Given the description of an element on the screen output the (x, y) to click on. 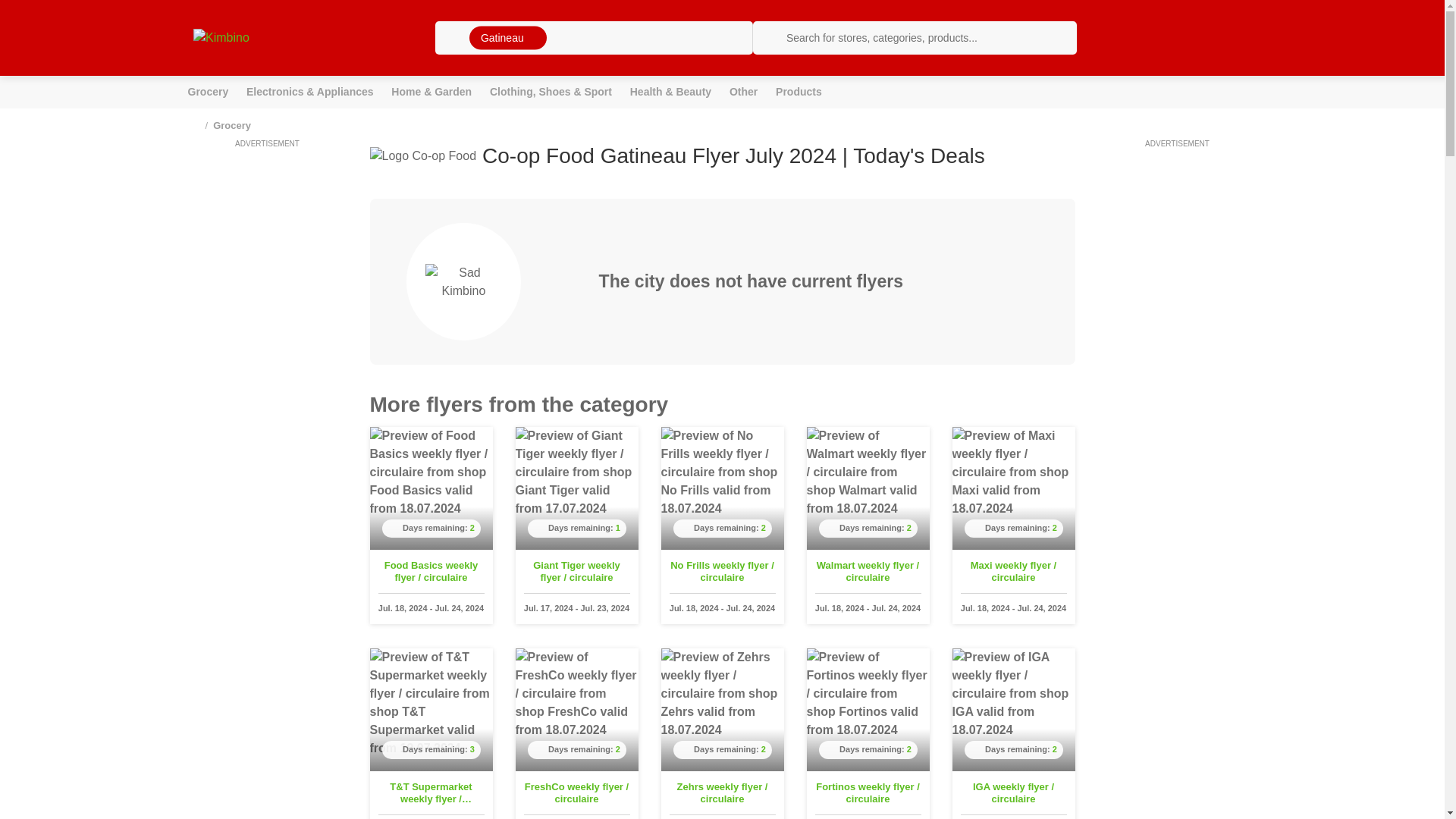
Logo Co-op Food (423, 156)
Grocery (231, 125)
Products (799, 92)
Search for stores, categories, products... (914, 37)
Grocery (207, 92)
